Given the description of an element on the screen output the (x, y) to click on. 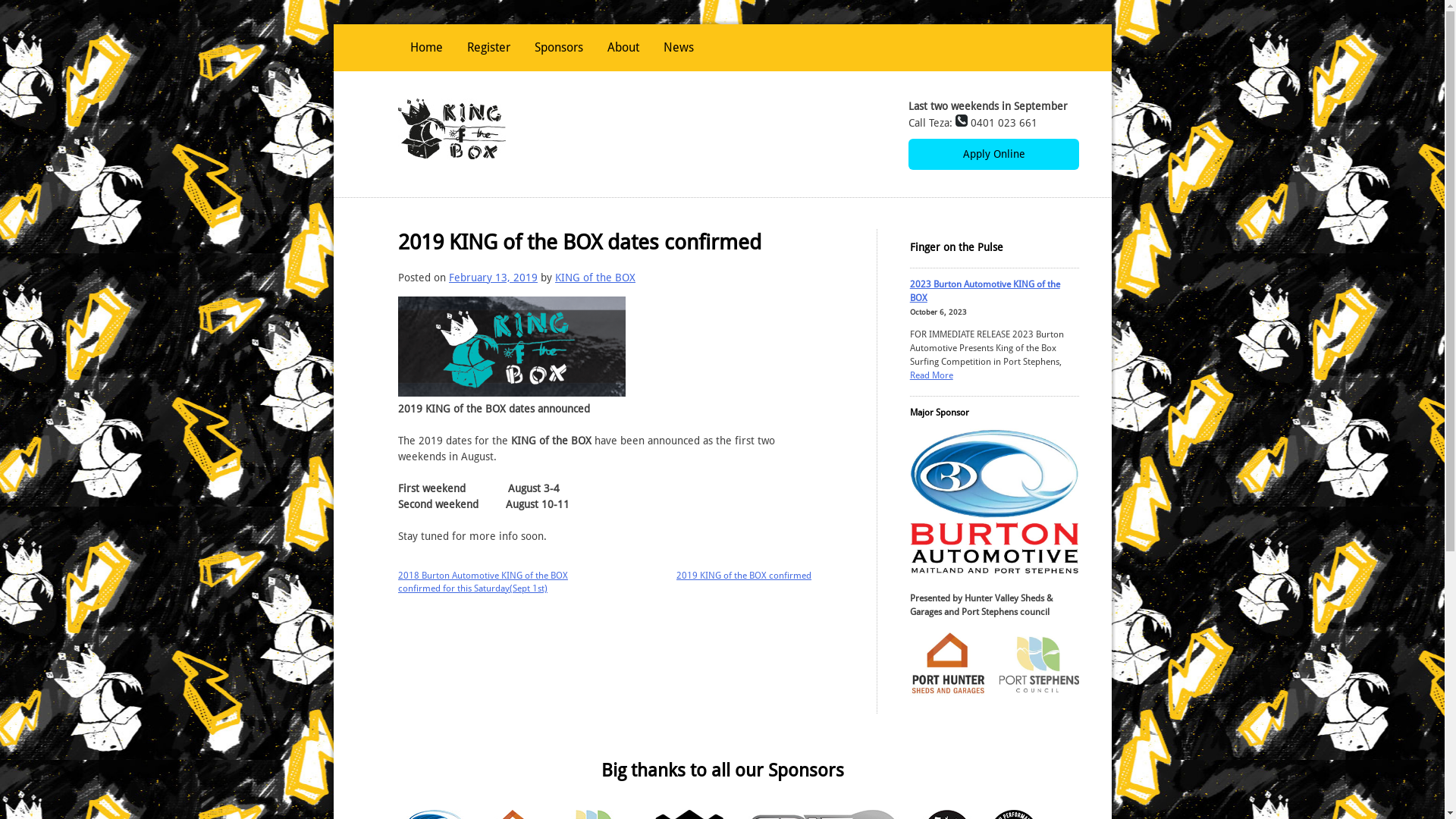
Read More Element type: text (931, 375)
News Element type: text (678, 47)
February 13, 2019 Element type: text (492, 277)
About Element type: text (623, 47)
Home Element type: text (426, 47)
KING of the BOX Element type: text (595, 277)
Skip to content Element type: text (332, 23)
Apply Online Element type: text (993, 153)
Register Element type: text (488, 47)
2023 Burton Automotive KING of the BOX Element type: text (985, 291)
2019 KING of the BOX confirmed Element type: text (743, 575)
Sponsors Element type: text (558, 47)
